Given the description of an element on the screen output the (x, y) to click on. 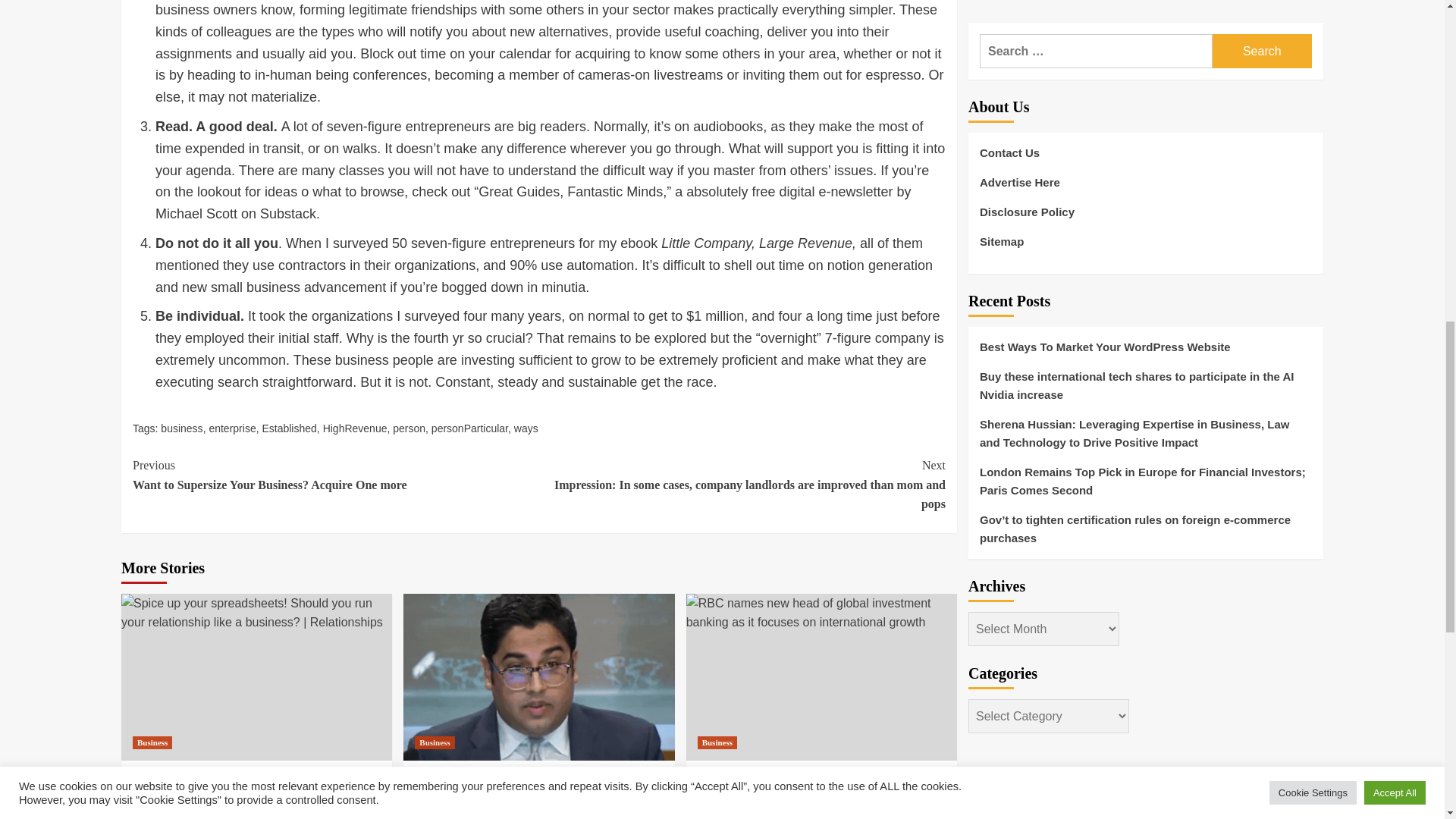
personParticular (469, 428)
Business (434, 742)
Established (288, 428)
enterprise (232, 428)
person (409, 428)
business (335, 474)
HighRevenue (181, 428)
Business (355, 428)
ways (151, 742)
